Given the description of an element on the screen output the (x, y) to click on. 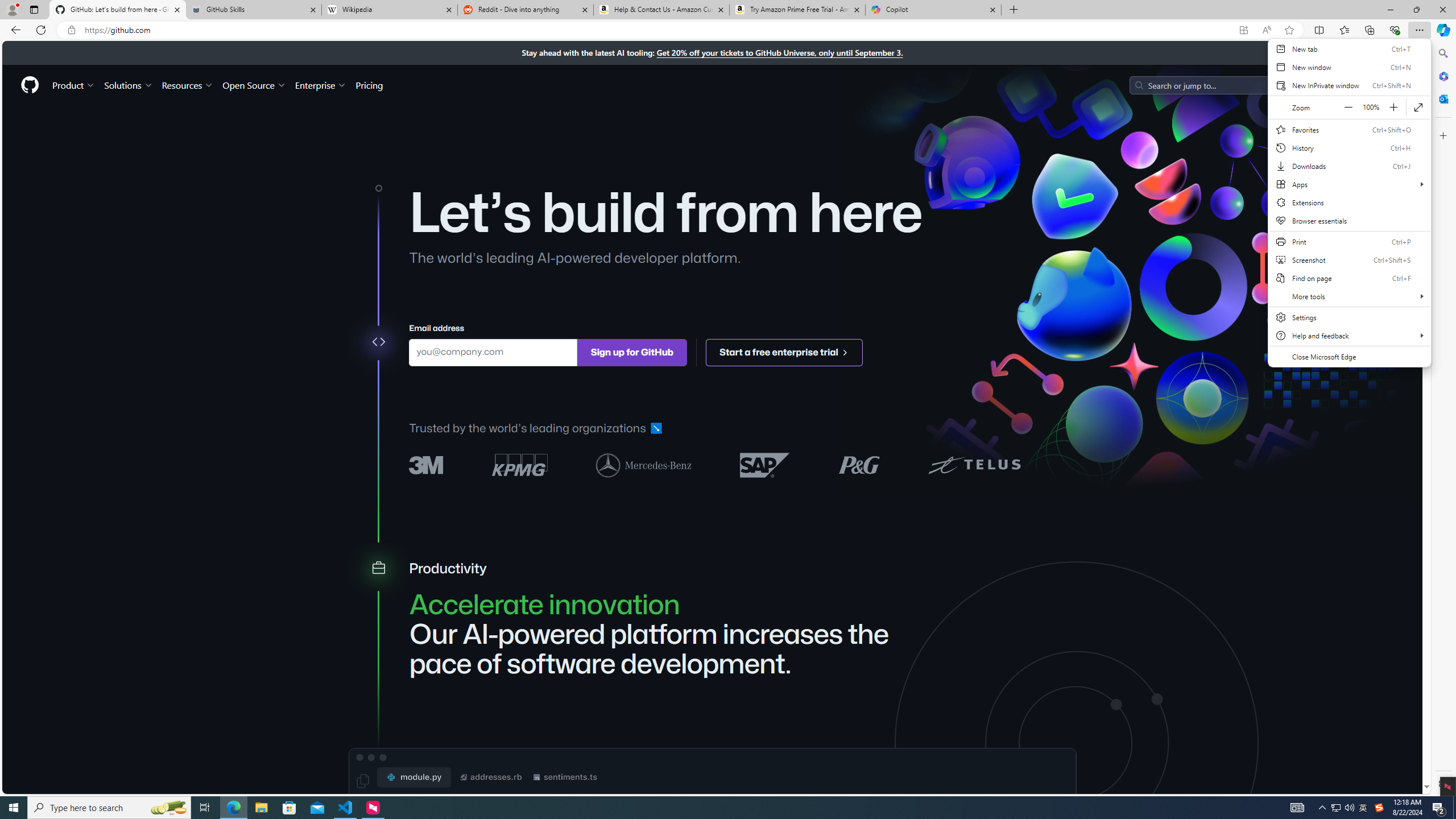
New window (1349, 67)
3M logo (426, 465)
Solutions (128, 84)
Screenshot (1349, 259)
History (1349, 147)
Find on page (1349, 277)
Sign up (1382, 84)
SAP logo (764, 464)
Mercedes-Benz logo (643, 464)
Wikipedia (390, 9)
Zoom in (Ctrl+Plus key) (1393, 107)
Help and feedback (1349, 335)
